Given the description of an element on the screen output the (x, y) to click on. 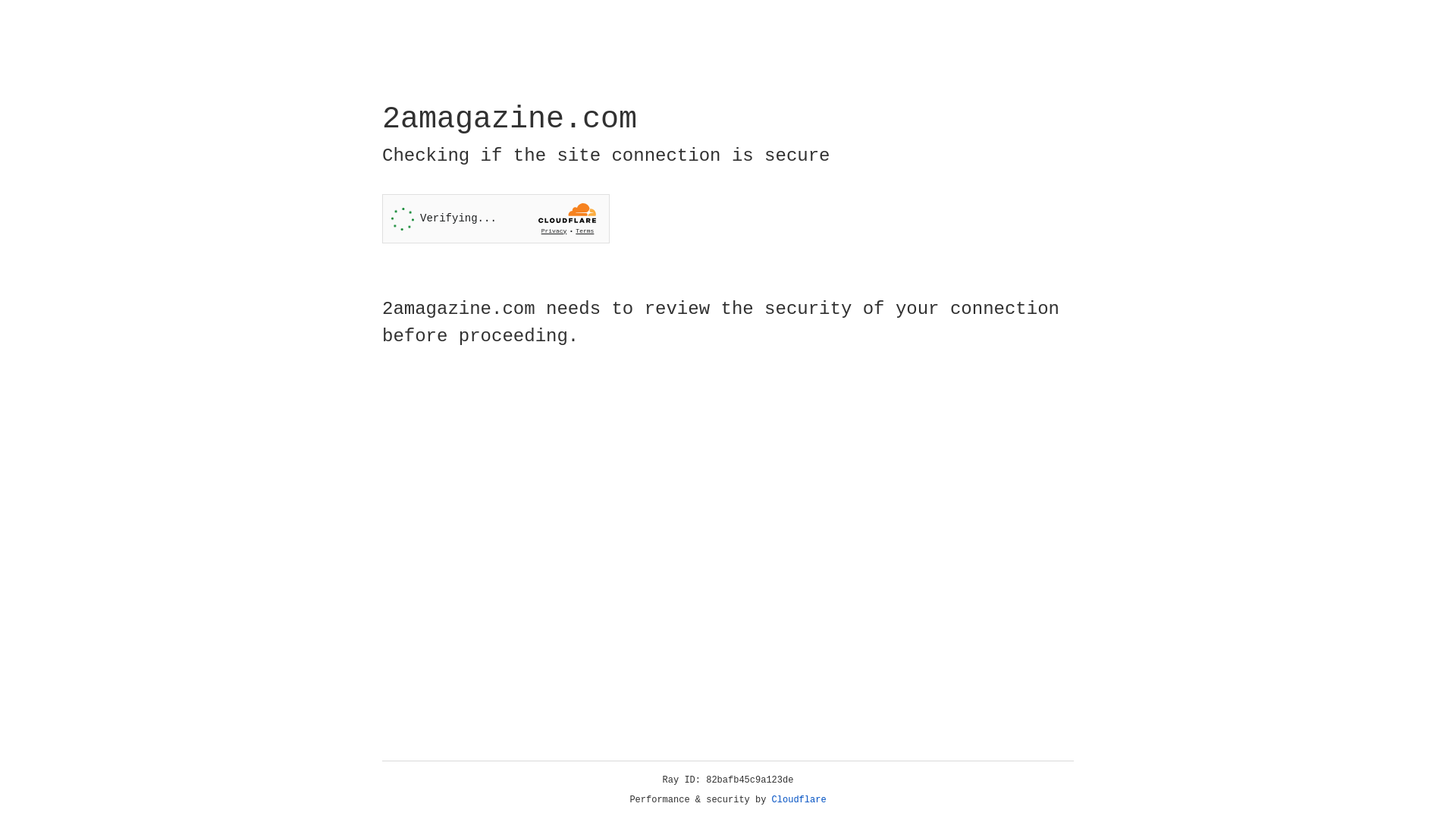
Widget containing a Cloudflare security challenge Element type: hover (495, 218)
Cloudflare Element type: text (798, 799)
